Given the description of an element on the screen output the (x, y) to click on. 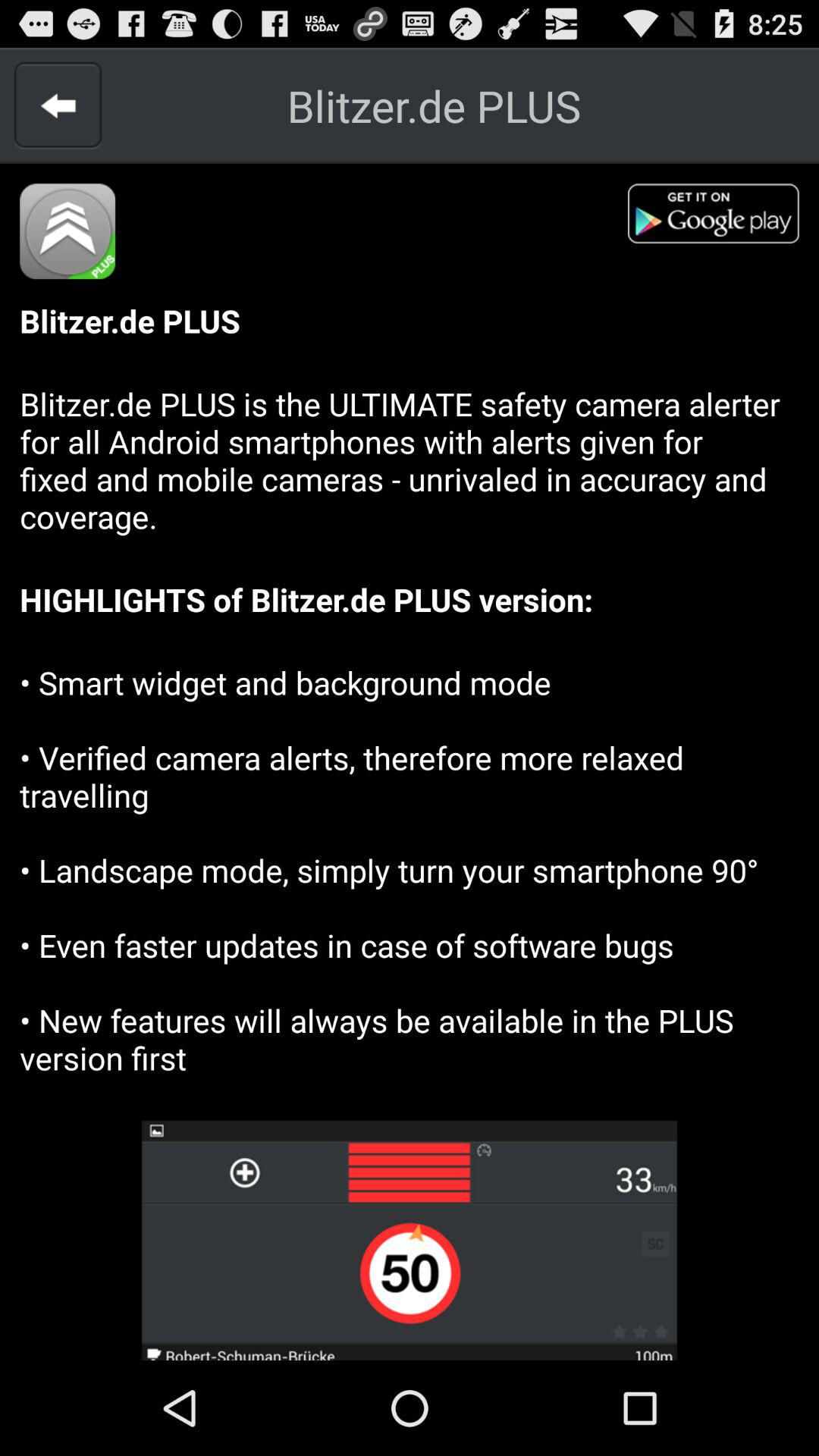
shows google play button (723, 218)
